Given the description of an element on the screen output the (x, y) to click on. 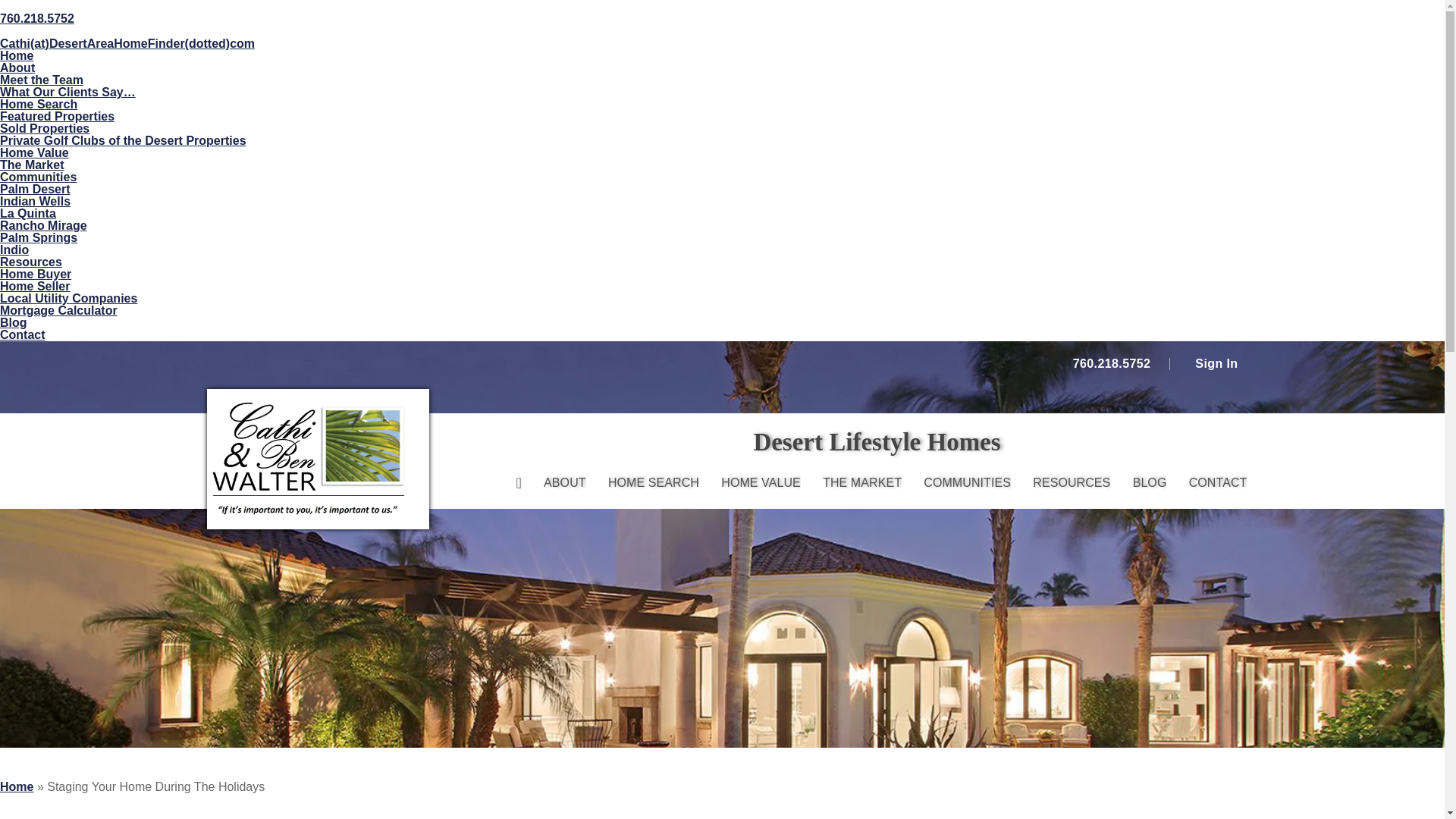
Indio (14, 249)
Home Seller (34, 286)
Home (16, 55)
Featured Properties (57, 115)
Palm Springs (38, 237)
Sign In (1213, 363)
Home Buyer (35, 273)
Meet the Team (41, 79)
The Market (32, 164)
HOME SEARCH (653, 481)
HOME (518, 481)
Rancho Mirage (43, 225)
Local Utility Companies (68, 297)
Blog (13, 322)
Communities (38, 176)
